Given the description of an element on the screen output the (x, y) to click on. 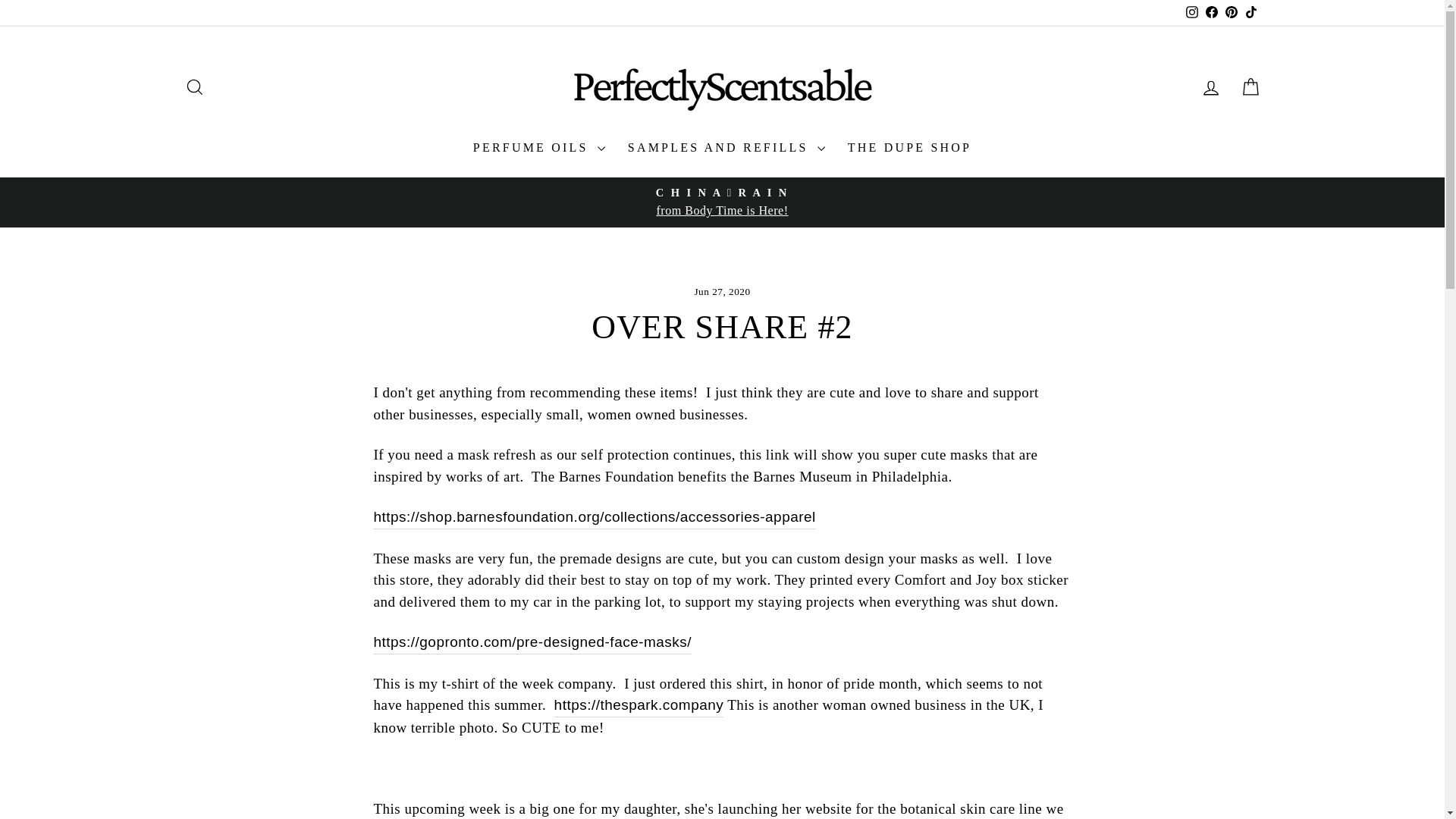
Perfectly Scentsable on TikTok (1250, 12)
Facebook (1211, 12)
Perfectly Scentsable on Facebook (1190, 12)
TikTok (1211, 12)
THE DUPE SHOP (1250, 12)
Perfectly Scentsable on Pinterest (908, 147)
ACCOUNT (1210, 87)
CART (1230, 12)
instagram (194, 87)
Pinterest (1210, 87)
ICON-SEARCH (1249, 87)
Perfectly Scentsable on Instagram (1192, 11)
